Given the description of an element on the screen output the (x, y) to click on. 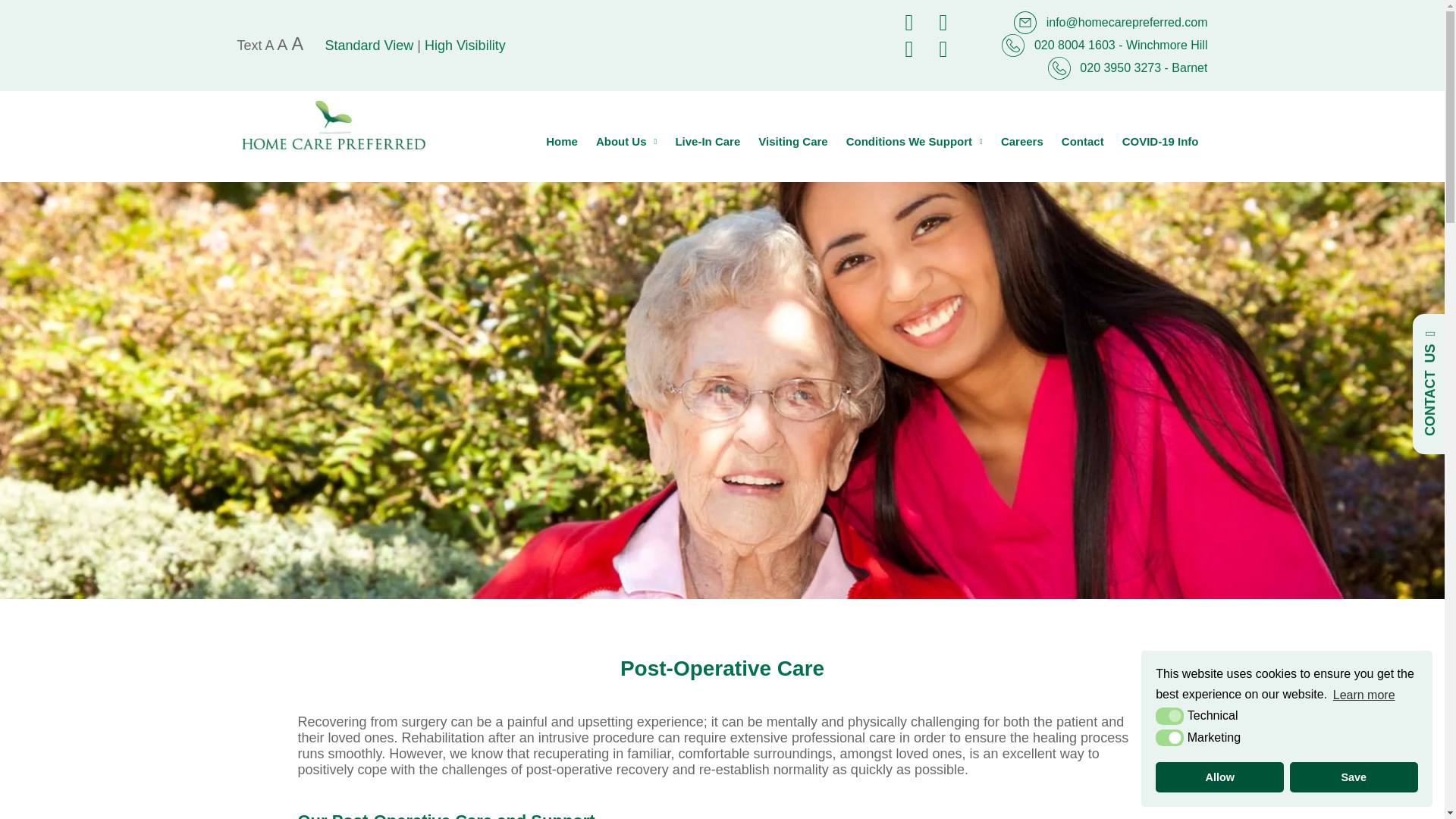
Home (561, 141)
Logo (333, 124)
About Us (626, 141)
Switch to Standard Visibility (368, 45)
Switch to High Visibility (465, 45)
High Visibility (465, 45)
Contact (1082, 141)
Save (1354, 777)
Allow (1220, 777)
020 3950 3273 - Barnet (1128, 67)
Careers (1021, 141)
Standard View (368, 45)
Conditions We Support (914, 141)
020 8004 1603 - Winchmore Hill (1104, 45)
Learn more (1363, 694)
